Given the description of an element on the screen output the (x, y) to click on. 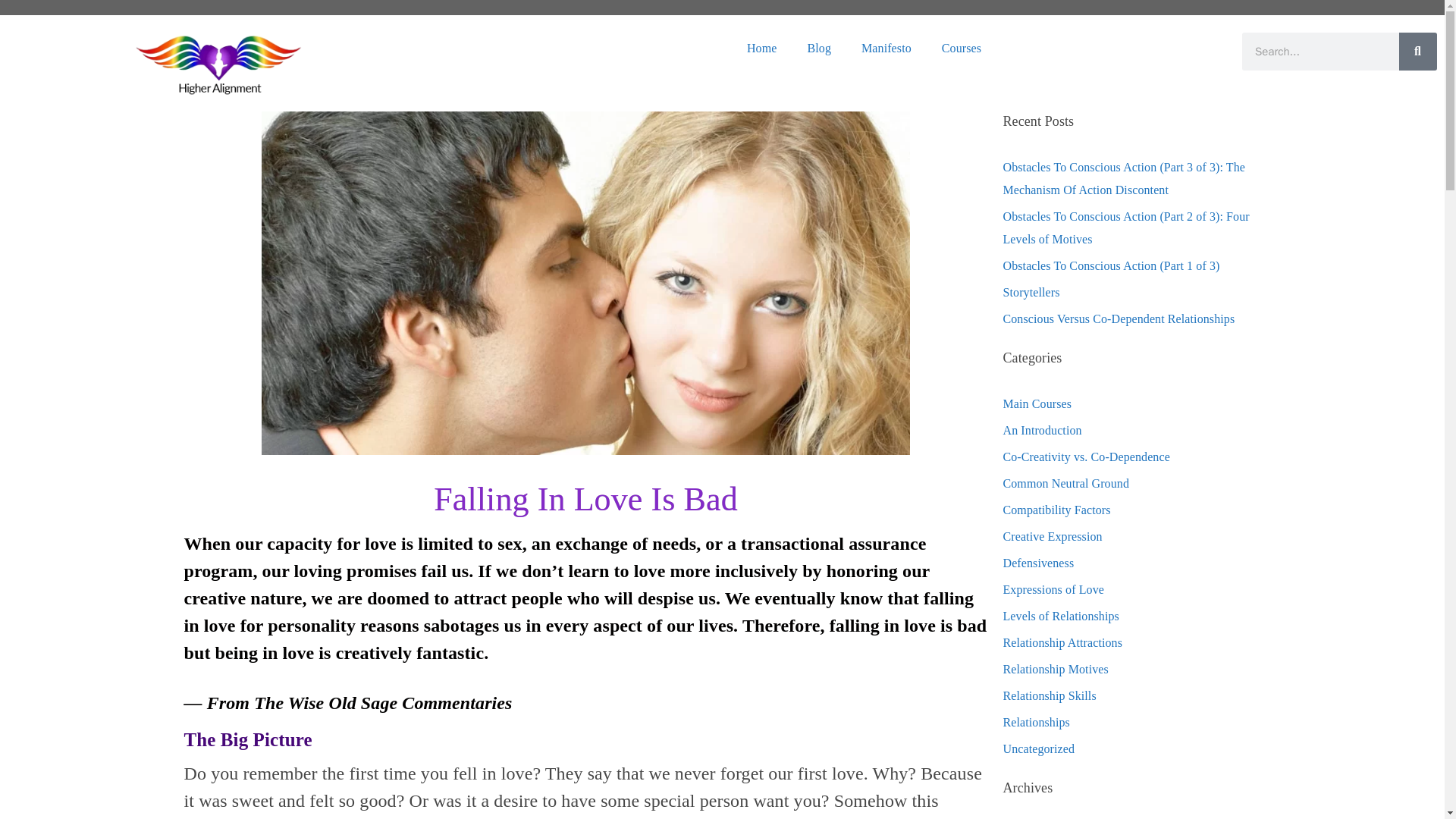
Relationship Skills (1049, 695)
Levels of Relationships (1060, 615)
Uncategorized (1038, 748)
Co-Creativity vs. Co-Dependence (1086, 456)
Defensiveness (1038, 562)
Conscious Versus Co-Dependent Relationships (1118, 318)
Manifesto (885, 48)
Courses (960, 48)
Expressions of Love (1053, 589)
Relationship Attractions (1062, 642)
Relationships (1035, 721)
Main Courses (1037, 403)
Blog (818, 48)
Storytellers (1031, 291)
Creative Expression (1052, 535)
